Given the description of an element on the screen output the (x, y) to click on. 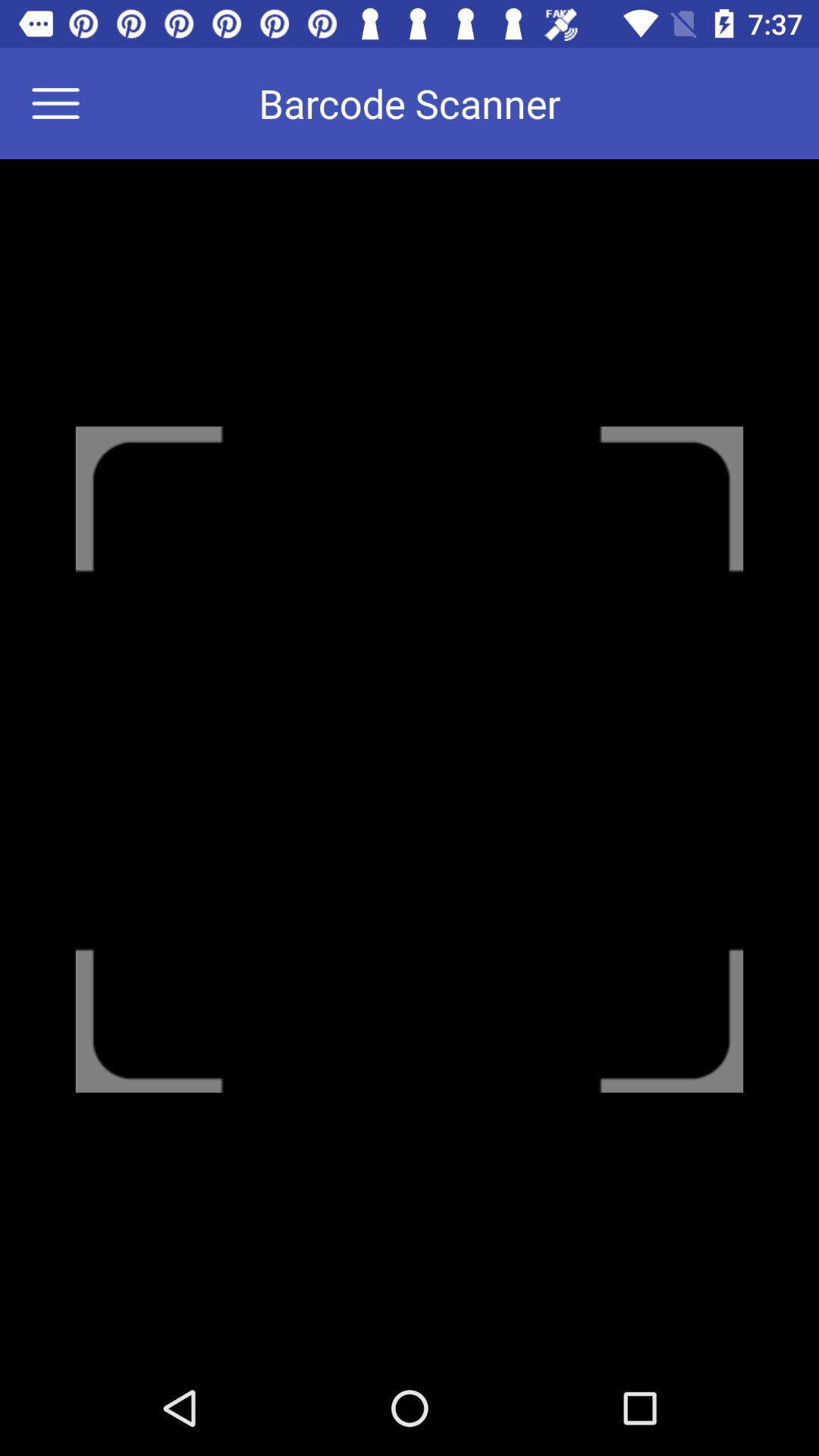
tap the icon at the top left corner (65, 103)
